Given the description of an element on the screen output the (x, y) to click on. 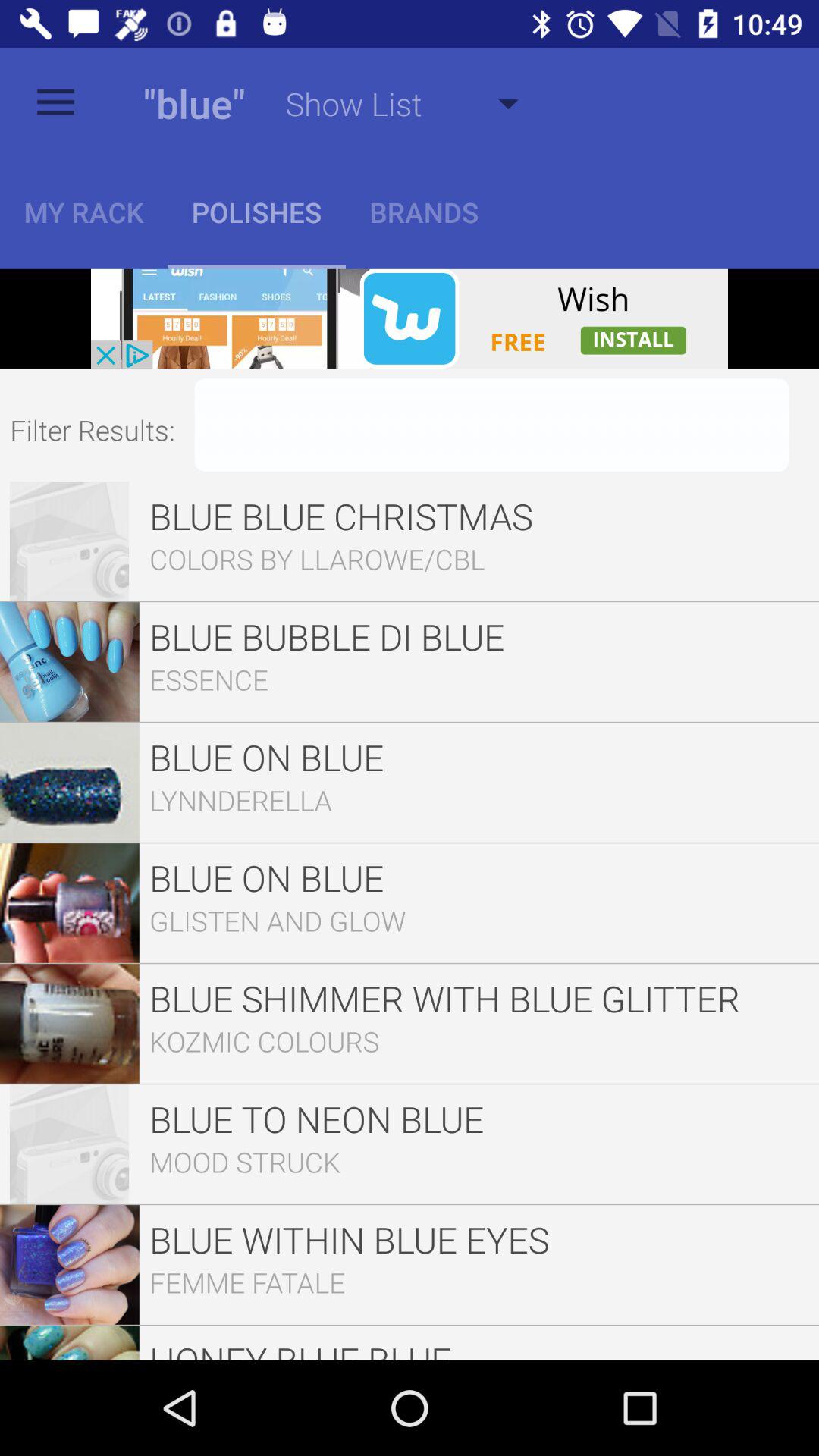
enter filter parameter (491, 424)
